Given the description of an element on the screen output the (x, y) to click on. 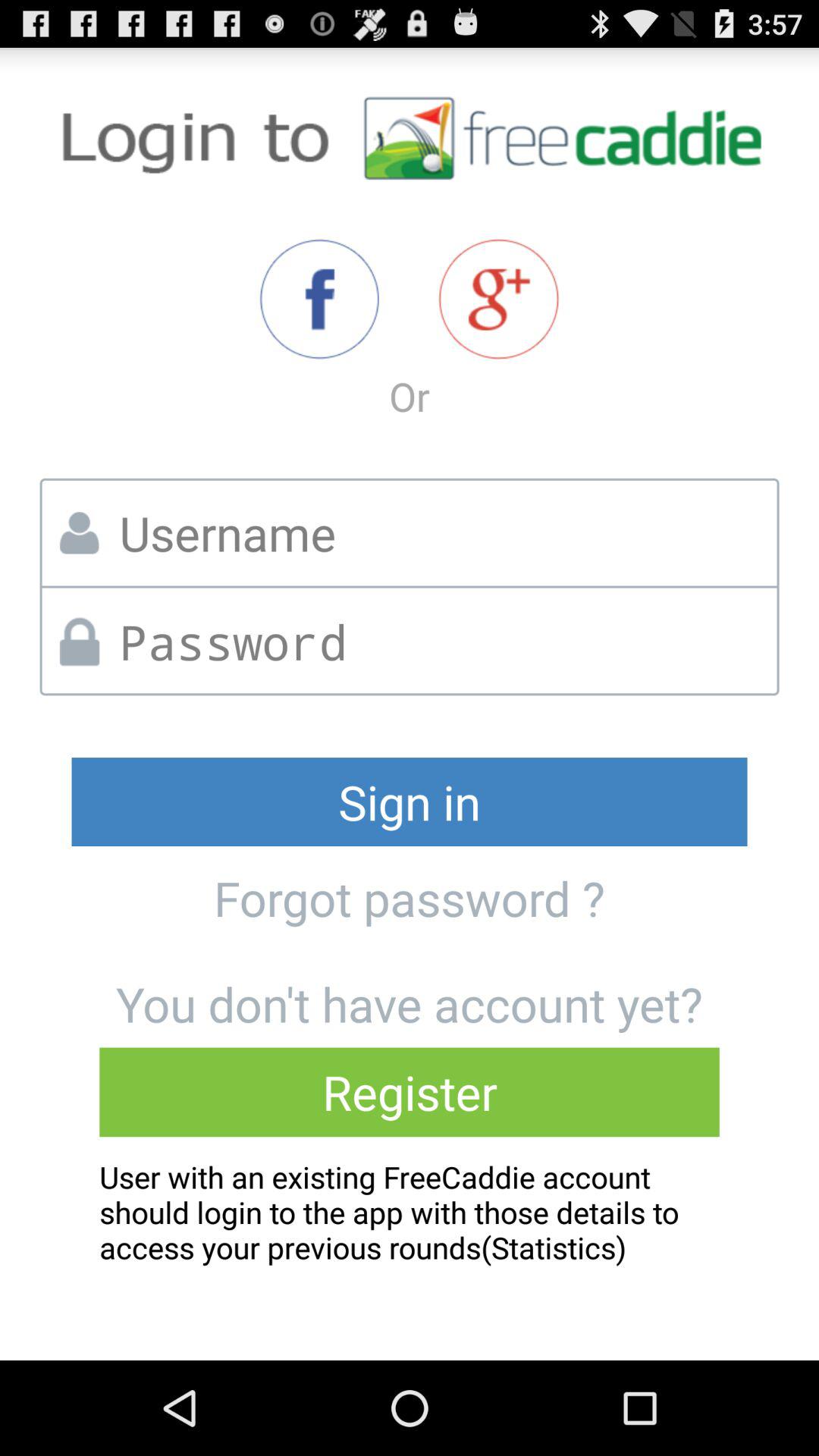
type in username (443, 533)
